Given the description of an element on the screen output the (x, y) to click on. 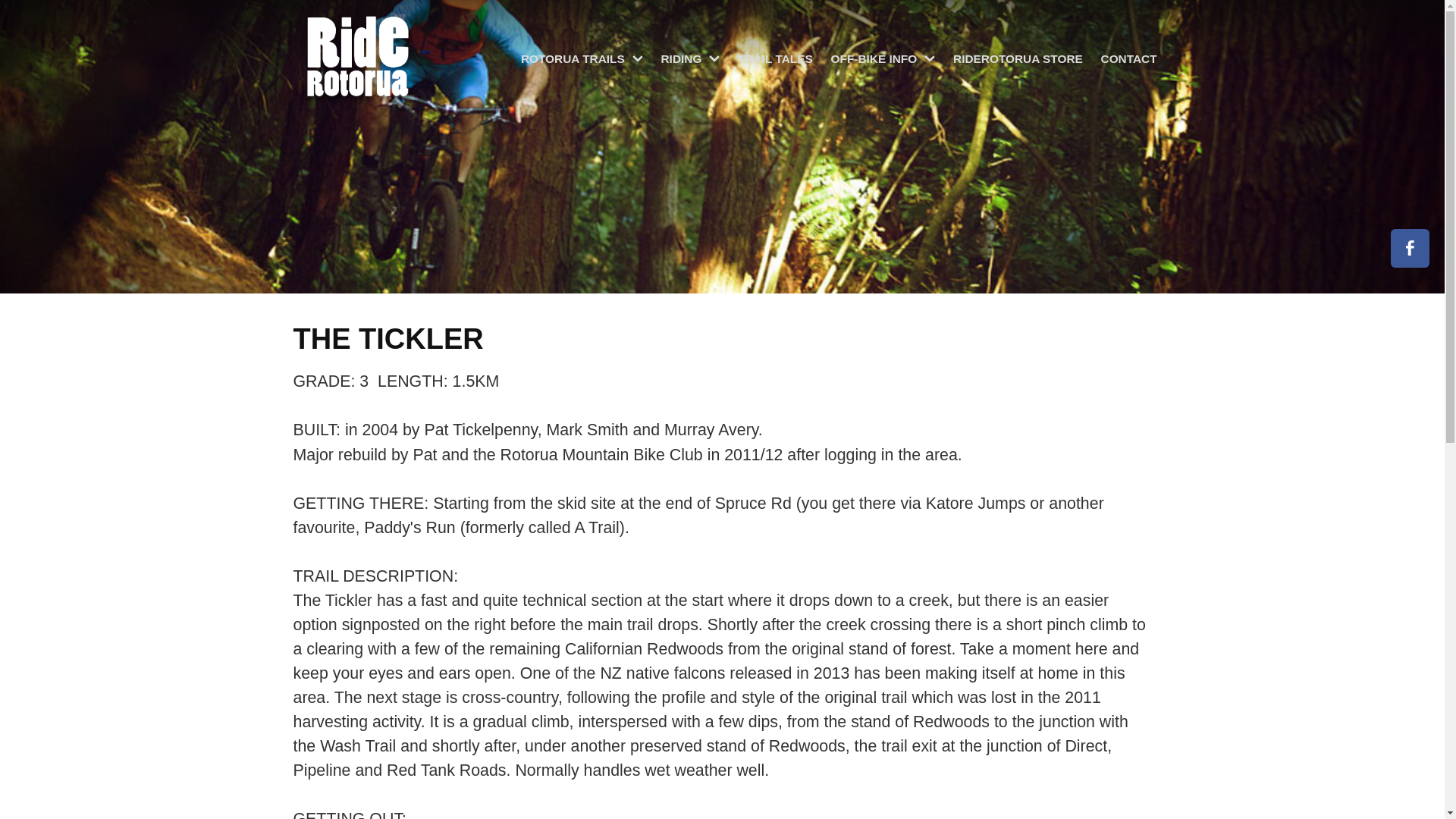
RIDING (690, 59)
A link to this website's Facebook. (1409, 248)
ROTORUA TRAILS (582, 59)
TRAIL TALES (775, 59)
CONTACT (1129, 59)
OFF-BIKE INFO (883, 59)
RIDEROTORUA STORE (1017, 59)
